Given the description of an element on the screen output the (x, y) to click on. 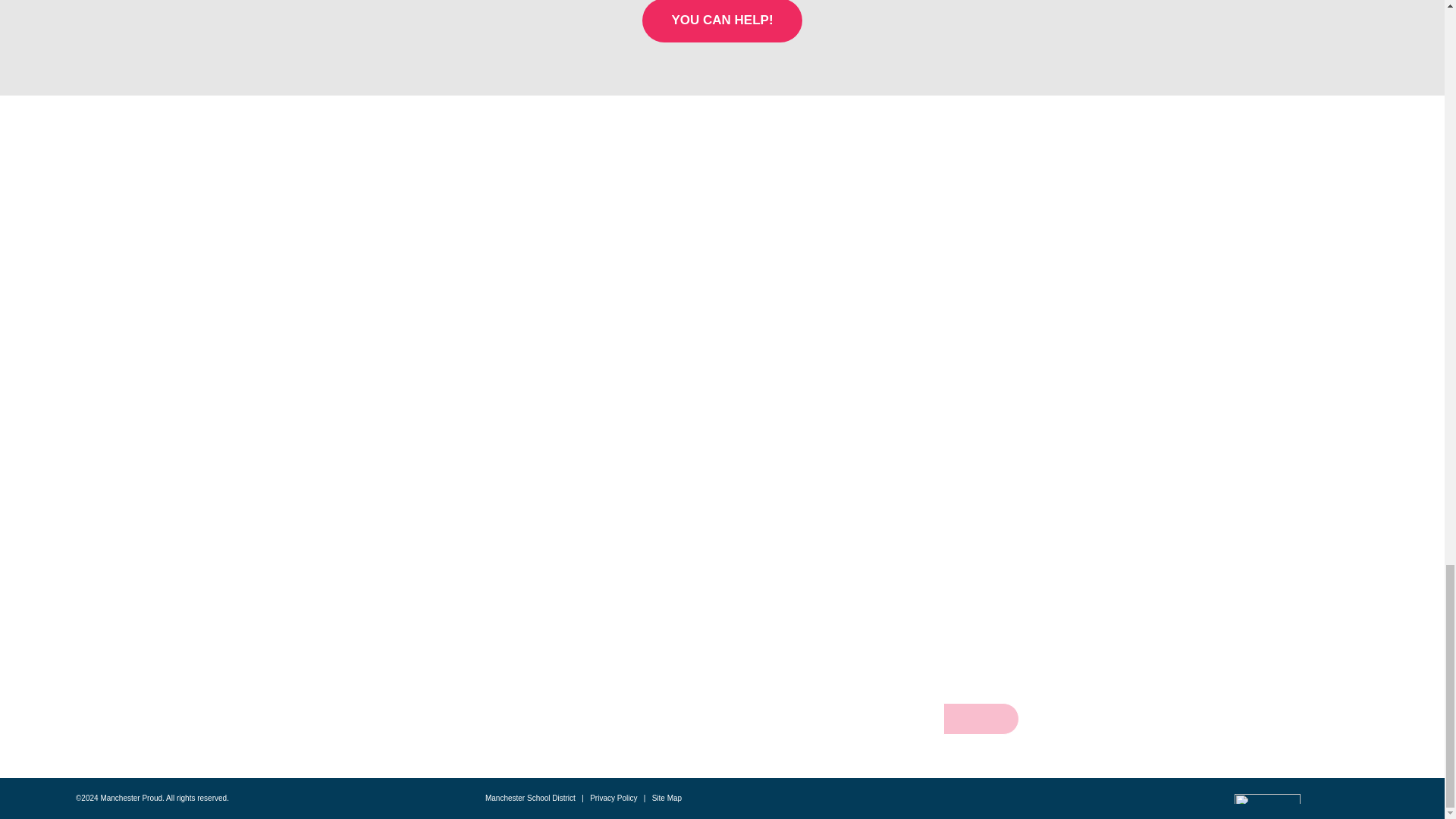
PARTNERS (381, 693)
CONTACT (381, 720)
Submit (981, 718)
YOU CAN HELP! (722, 21)
RESOURCES (381, 666)
